Given the description of an element on the screen output the (x, y) to click on. 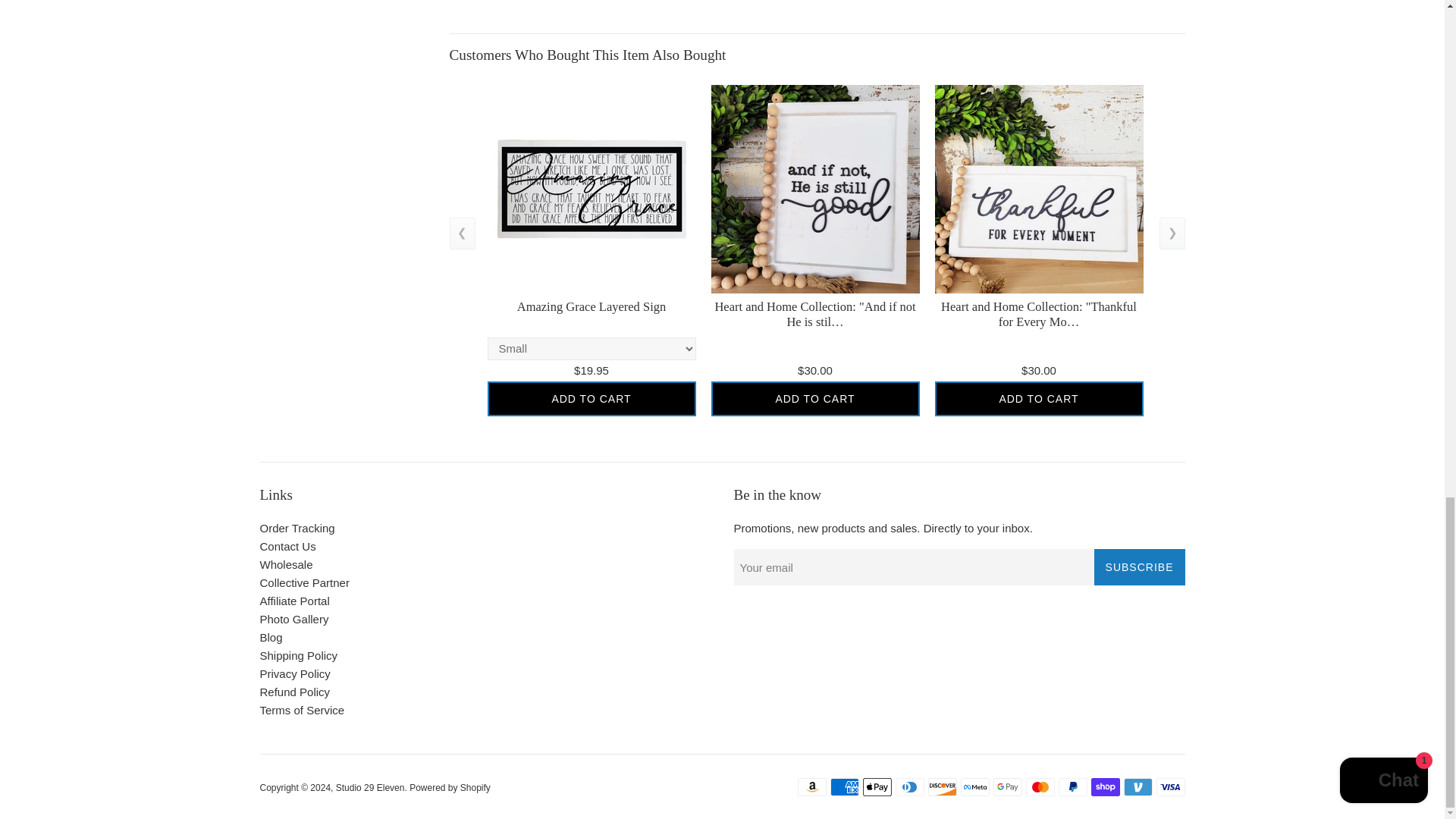
Apple Pay (877, 787)
American Express (844, 787)
Discover (942, 787)
Shop Pay (1104, 787)
Mastercard (1039, 787)
Google Pay (1007, 787)
Diners Club (909, 787)
Meta Pay (973, 787)
PayPal (1072, 787)
Amazon (812, 787)
